Given the description of an element on the screen output the (x, y) to click on. 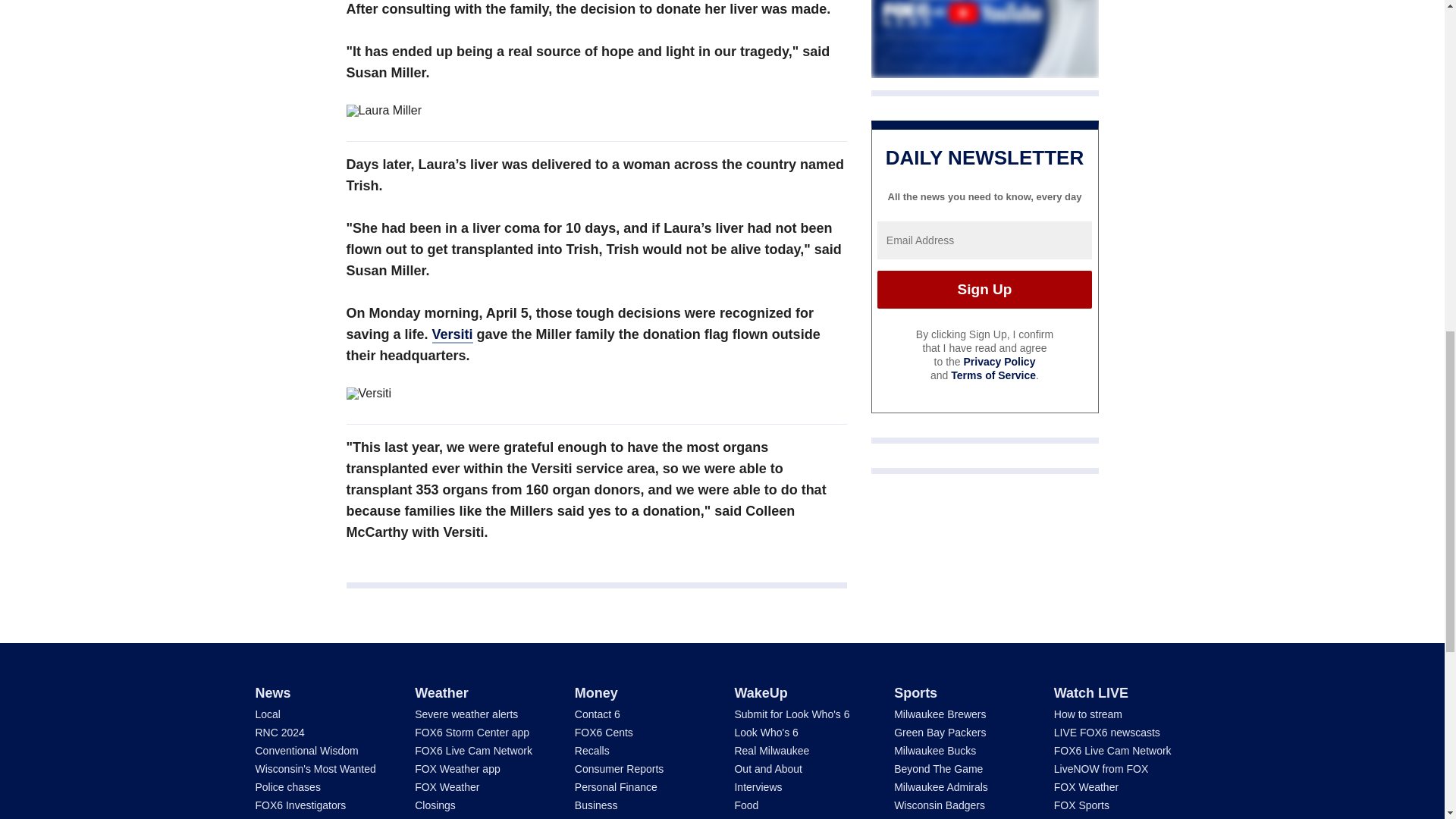
Sign Up (984, 289)
